Given the description of an element on the screen output the (x, y) to click on. 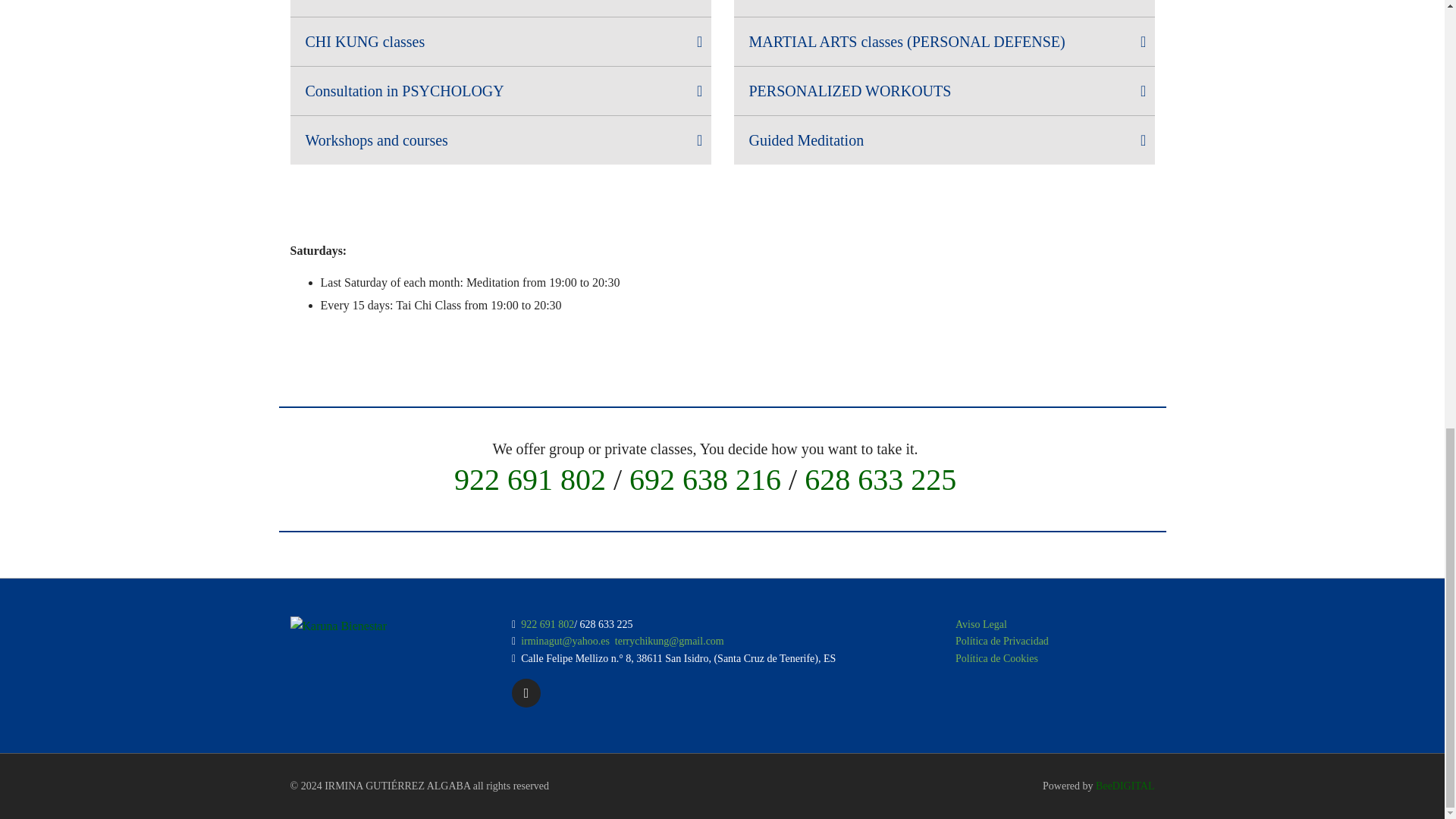
922 691 802 (529, 479)
922 691 802 (547, 624)
692 638 216 (704, 479)
628 633 225 (880, 479)
Aviso Legal (981, 624)
BeeDIGITAL (1125, 785)
